Given the description of an element on the screen output the (x, y) to click on. 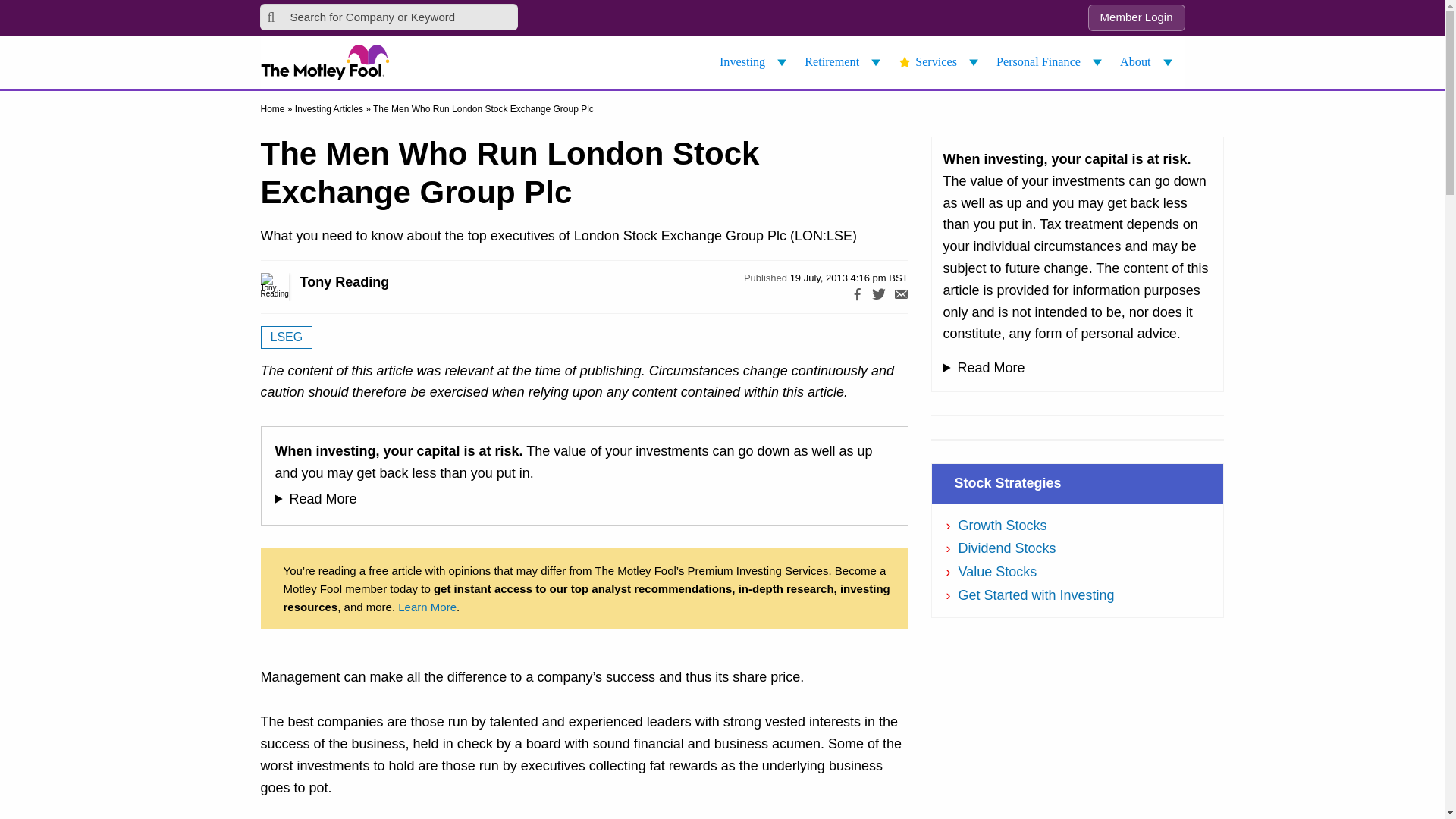
See more articles about LSEG (286, 336)
Investing (755, 62)
Share on Twitter (878, 296)
Share by email (900, 296)
Services (941, 62)
Retirement (844, 62)
Tony Reading (290, 286)
Share on Facebook (857, 296)
Member Login (1136, 17)
